Given the description of an element on the screen output the (x, y) to click on. 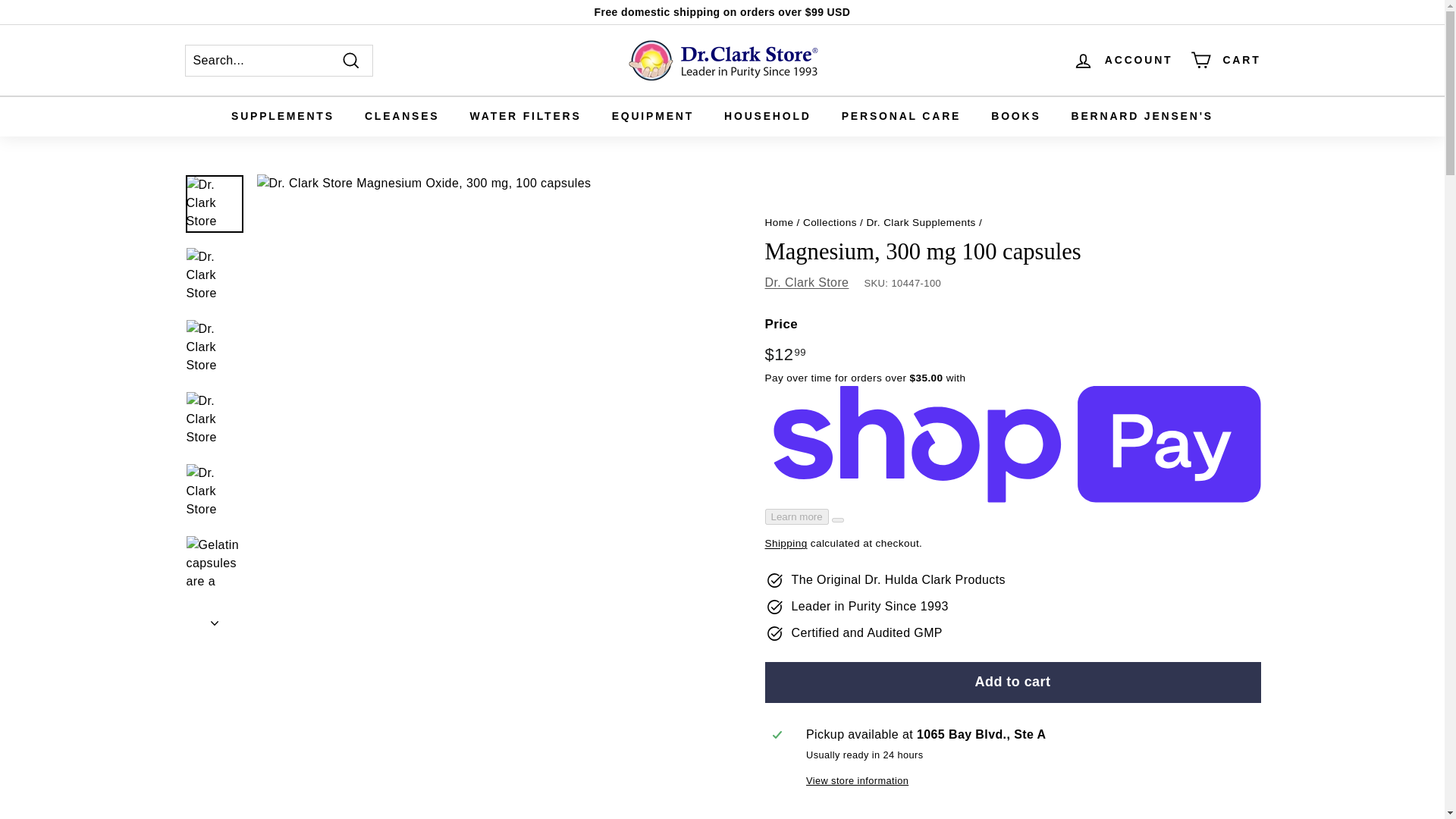
Back to the frontpage (778, 222)
EQUIPMENT (652, 116)
CLEANSES (401, 116)
WATER FILTERS (525, 116)
ACCOUNT (1123, 59)
SUPPLEMENTS (282, 116)
HOUSEHOLD (768, 116)
PERSONAL CARE (901, 116)
